Given the description of an element on the screen output the (x, y) to click on. 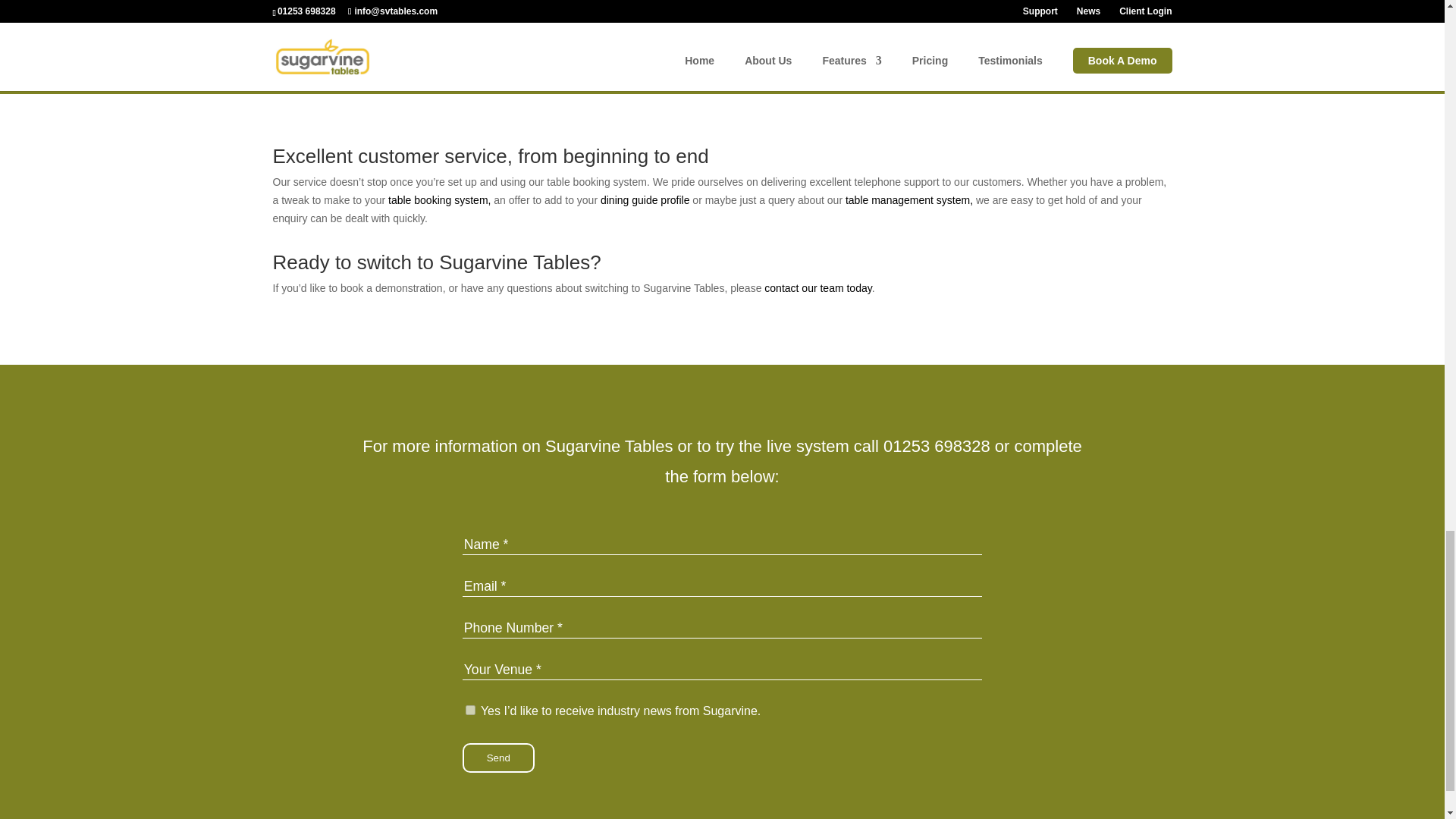
Send (498, 757)
Send (498, 757)
dining guide profile (644, 200)
 table booking system,  (439, 200)
contact our team today (817, 287)
table management system, (908, 200)
Gravity-Scene-iPhone-12-Mockup---14-04-22 (1027, 28)
01253 698328 (936, 445)
